Given the description of an element on the screen output the (x, y) to click on. 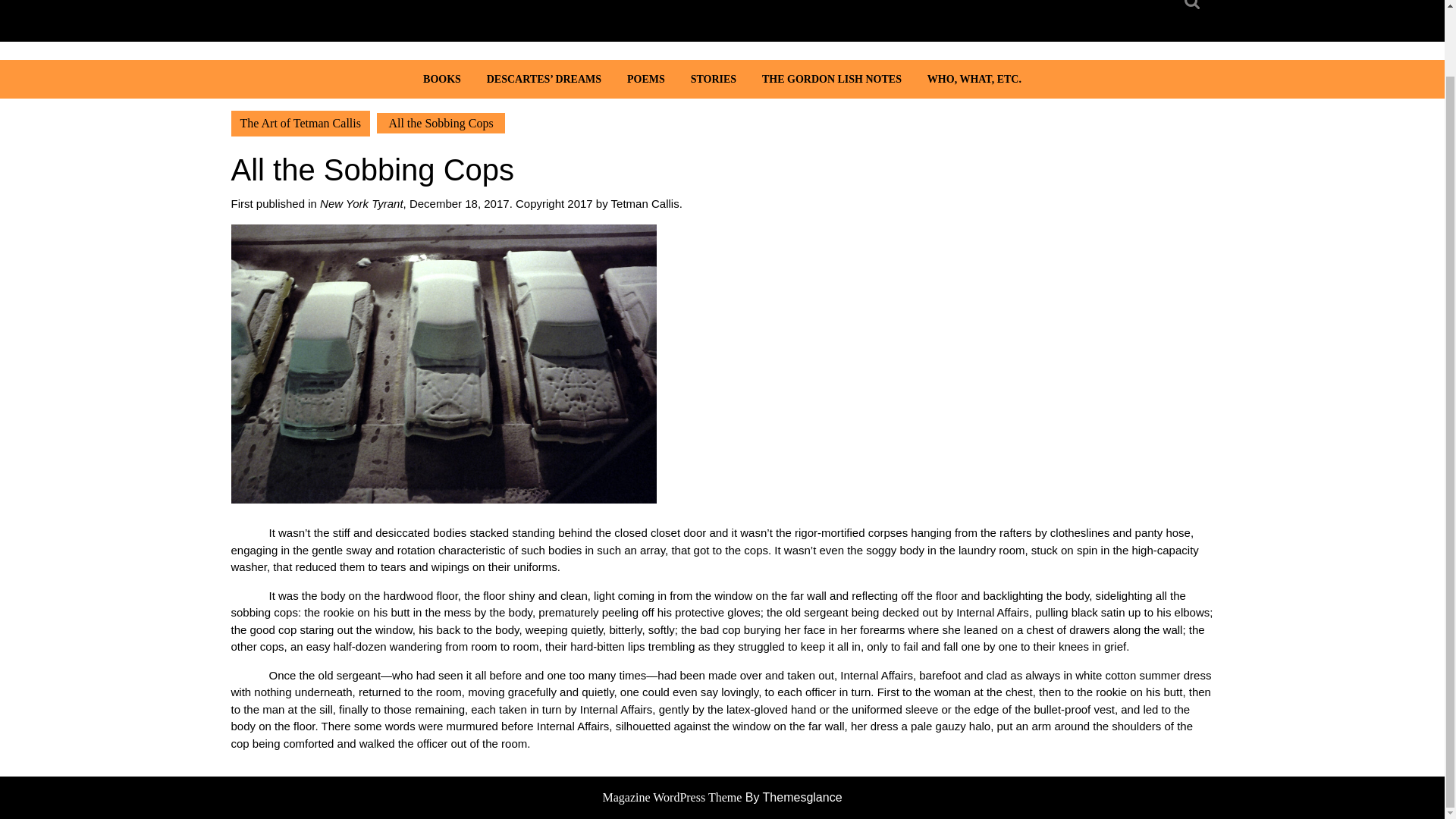
STORIES (713, 78)
Search (1193, 9)
POEMS (646, 78)
Search (1193, 9)
Search (1193, 9)
BOOKS (441, 78)
